Given the description of an element on the screen output the (x, y) to click on. 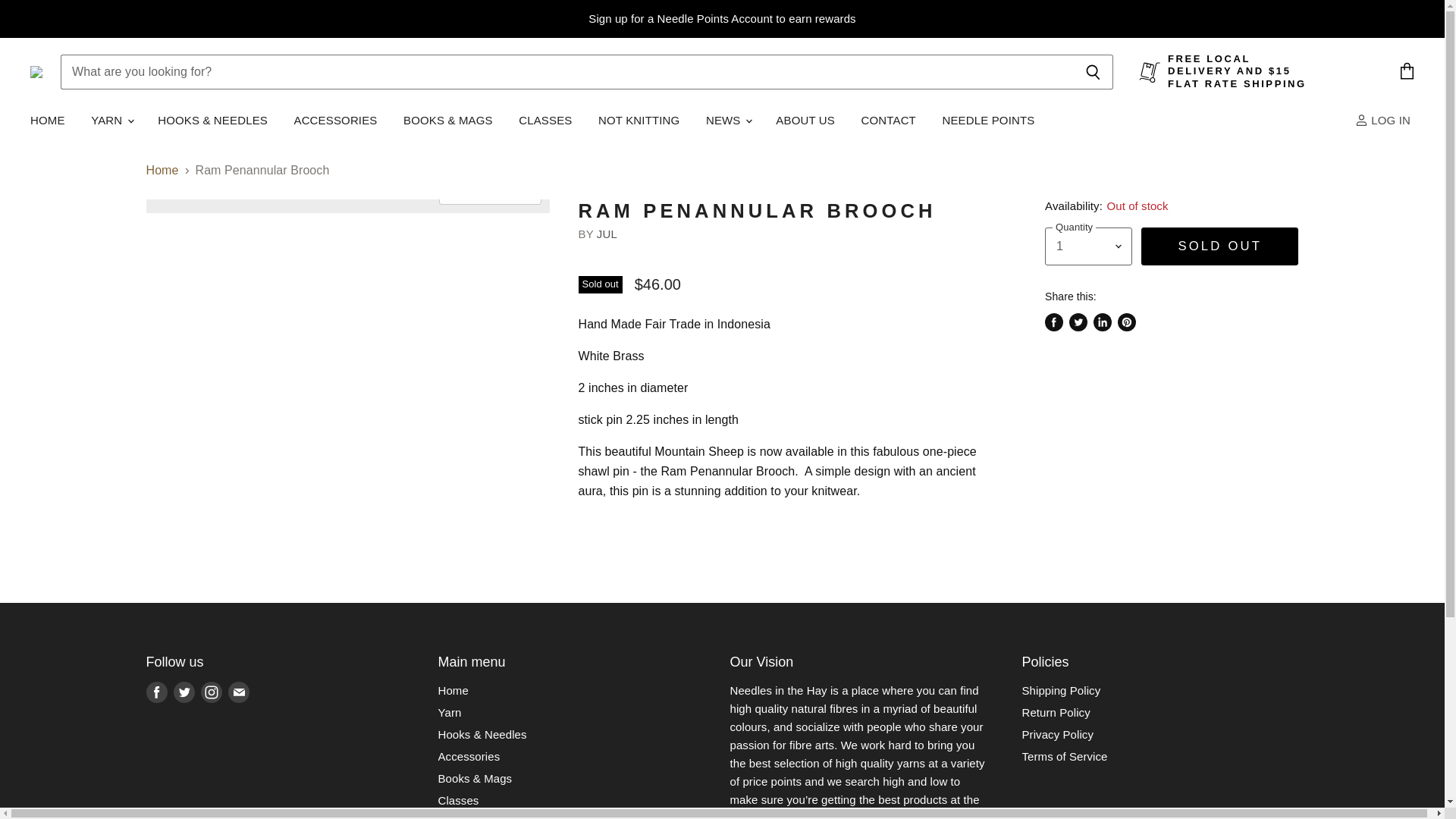
ACCOUNT ICON (1361, 119)
E-mail (237, 691)
Facebook (156, 691)
Delivery icon (1149, 71)
HOME (47, 120)
JUL (606, 233)
YARN (111, 120)
Twitter (183, 691)
Instagram (210, 691)
